Given the description of an element on the screen output the (x, y) to click on. 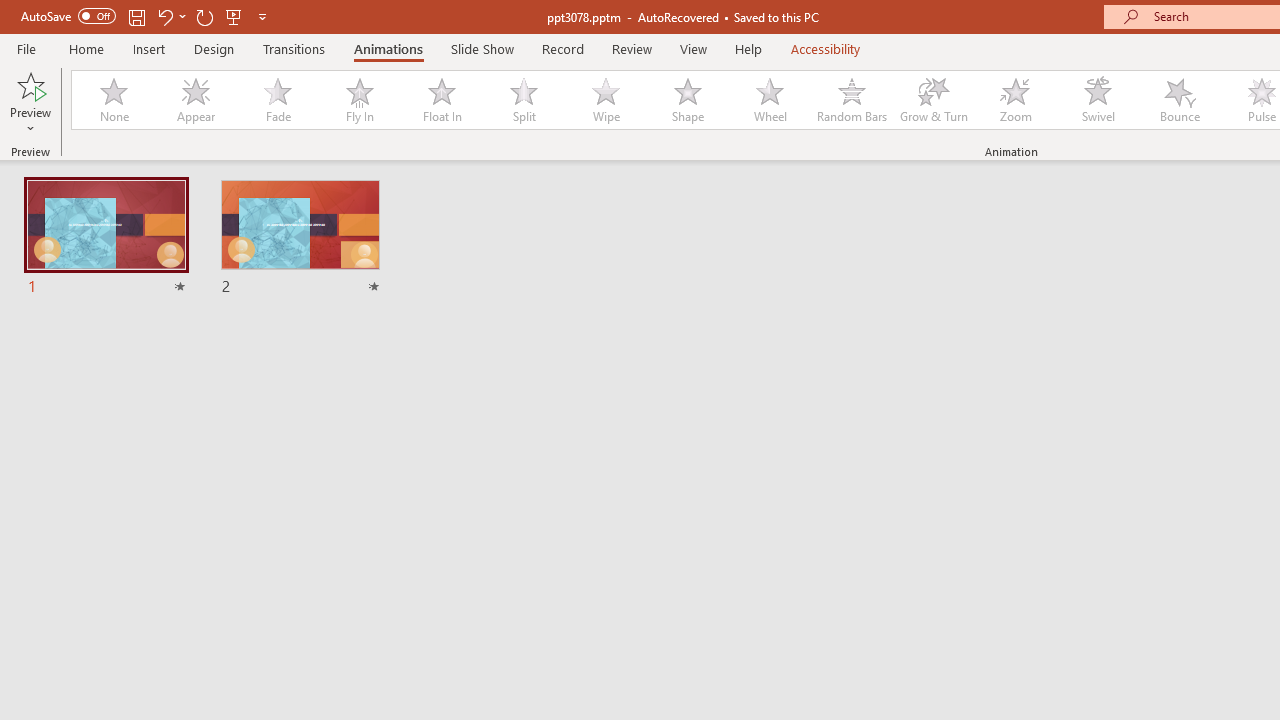
Quick Access Toolbar (145, 16)
System (10, 11)
Undo (170, 15)
Wheel (770, 100)
From Beginning (234, 15)
Help (748, 48)
Undo (164, 15)
Fly In (359, 100)
Slide Show (481, 48)
Fade (277, 100)
Bounce (1180, 100)
Random Bars (852, 100)
Animations (388, 48)
Insert (149, 48)
